Given the description of an element on the screen output the (x, y) to click on. 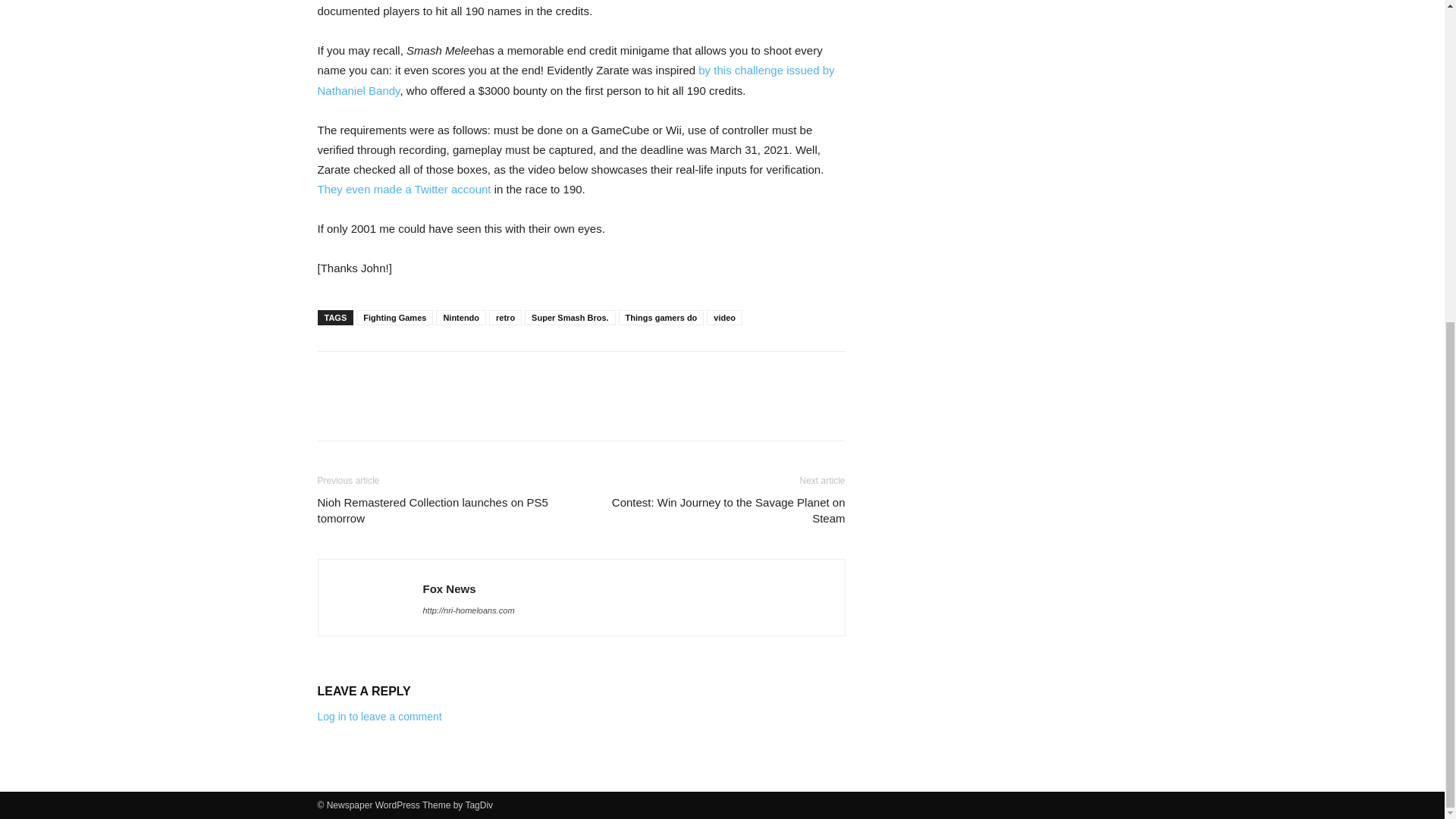
Nioh Remastered Collection launches on PS5 tomorrow (439, 510)
bottomFacebookLike (430, 375)
by this challenge issued by Nathaniel Bandy (575, 79)
retro (505, 317)
Things gamers do (661, 317)
Nintendo (460, 317)
Contest: Win Journey to the Savage Planet on Steam (721, 510)
video (724, 317)
Fighting Games (394, 317)
They even made a Twitter account (403, 188)
